Given the description of an element on the screen output the (x, y) to click on. 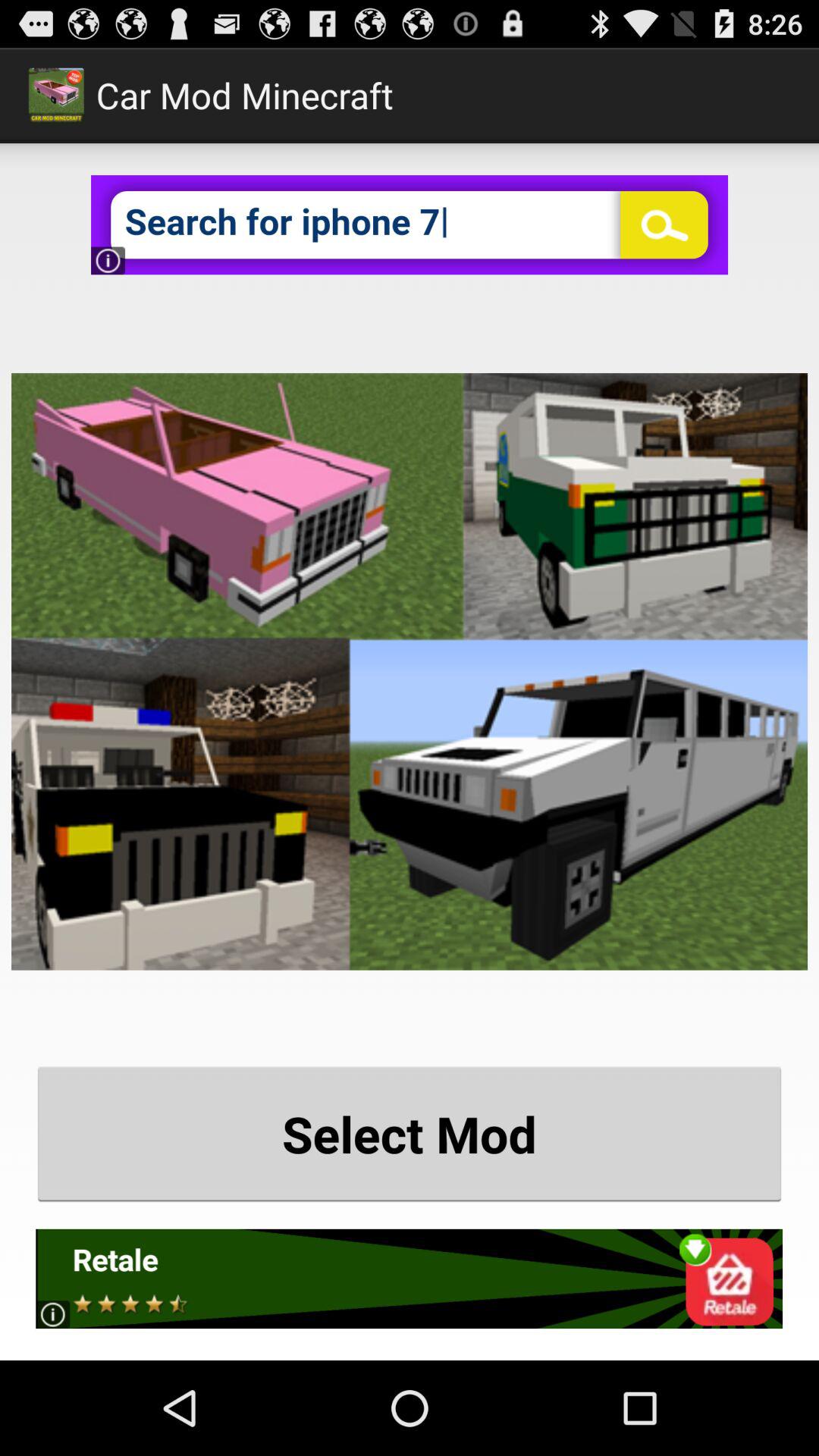
tap the item at the top (409, 224)
